Given the description of an element on the screen output the (x, y) to click on. 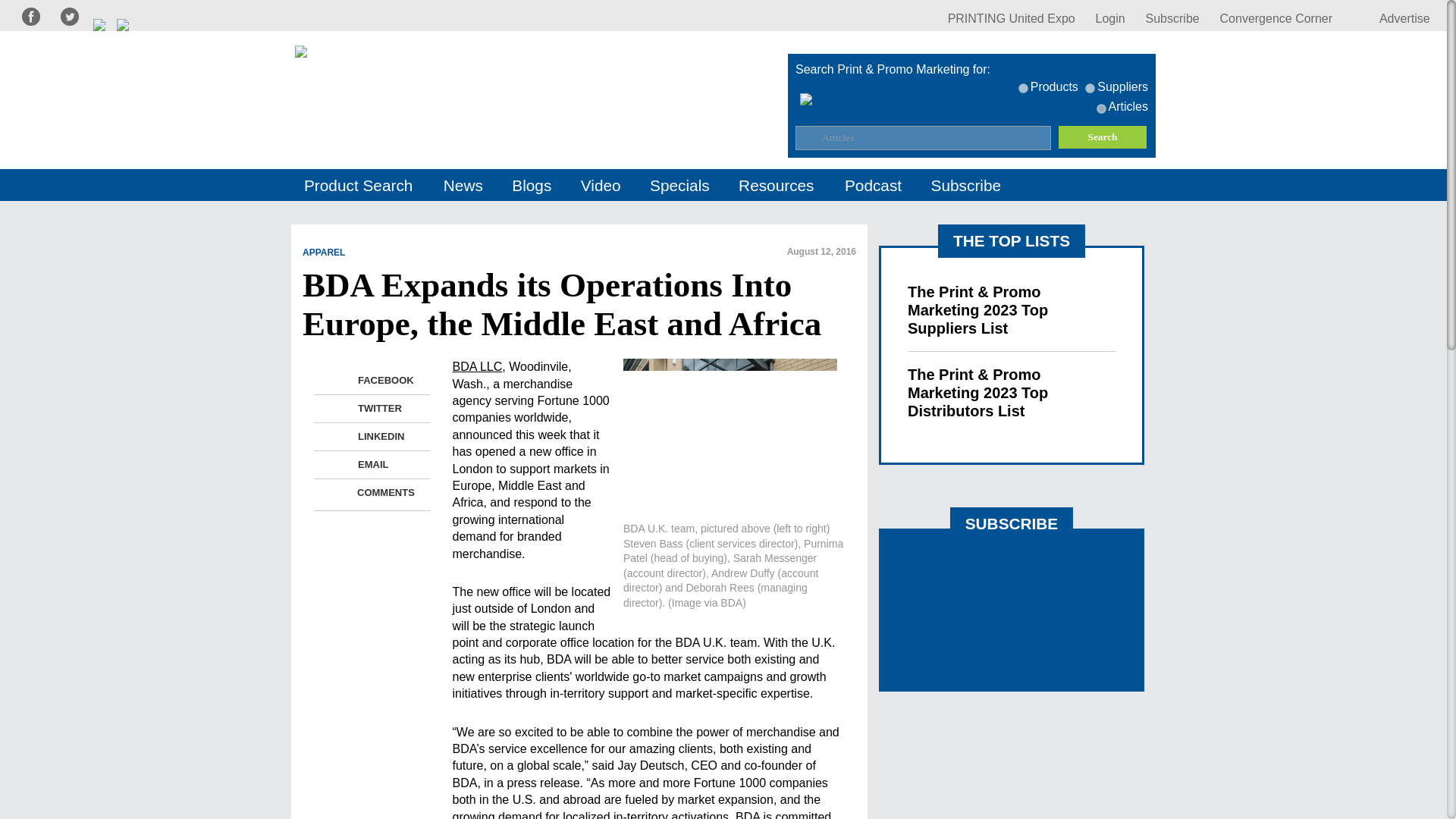
Advertise (1390, 18)
Email Link (339, 465)
keyword (1022, 88)
LinkedIn (339, 436)
Subscribe (1172, 18)
Facebook (339, 380)
Search (1102, 137)
Product Search (359, 185)
Twitter (339, 408)
Login (1110, 18)
